Given the description of an element on the screen output the (x, y) to click on. 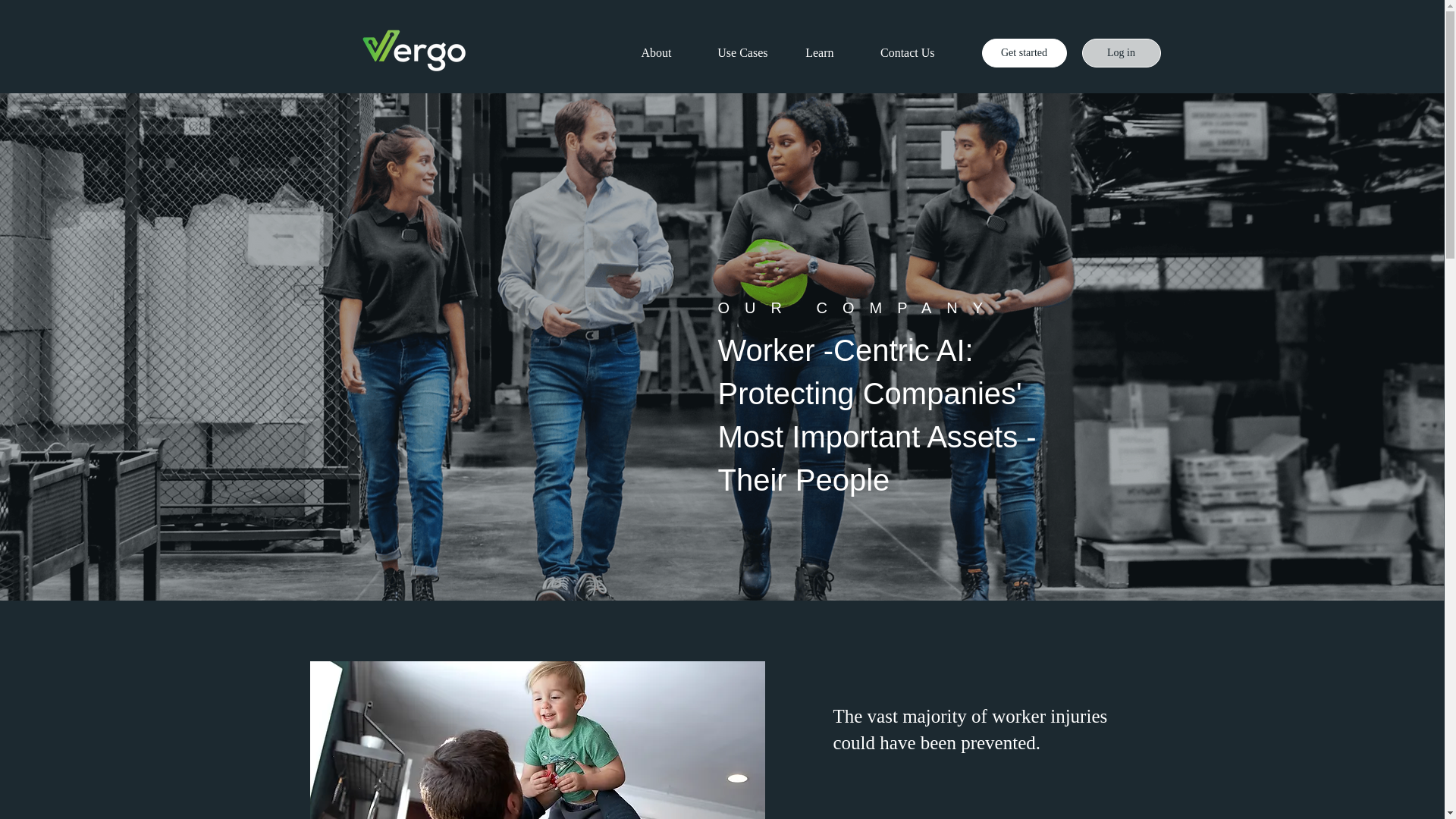
Contact Us (894, 52)
Use Cases (730, 52)
About (646, 52)
Learn (811, 52)
Log in (1120, 52)
Get started (1023, 52)
